Given the description of an element on the screen output the (x, y) to click on. 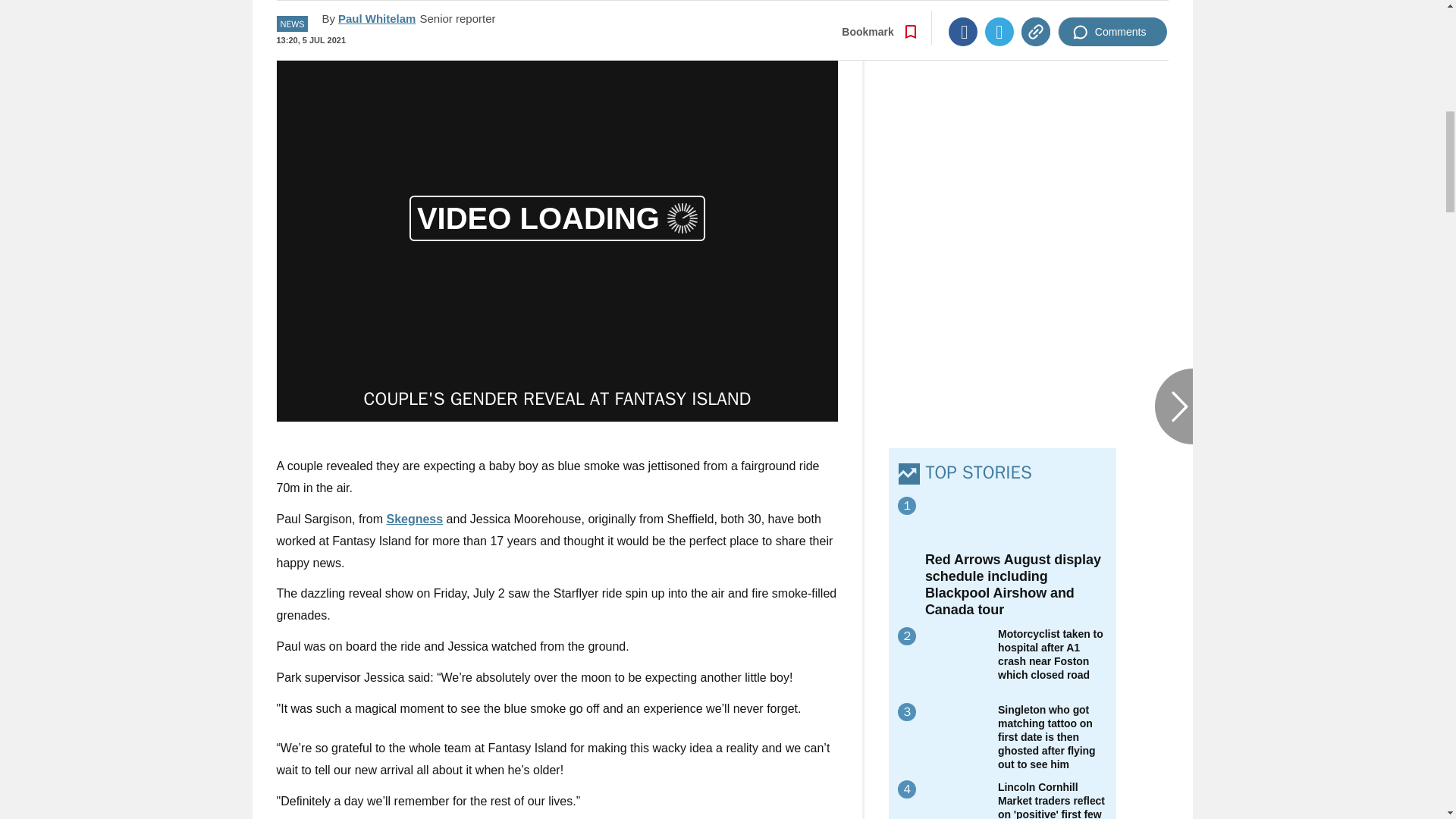
Go (730, 12)
